Given the description of an element on the screen output the (x, y) to click on. 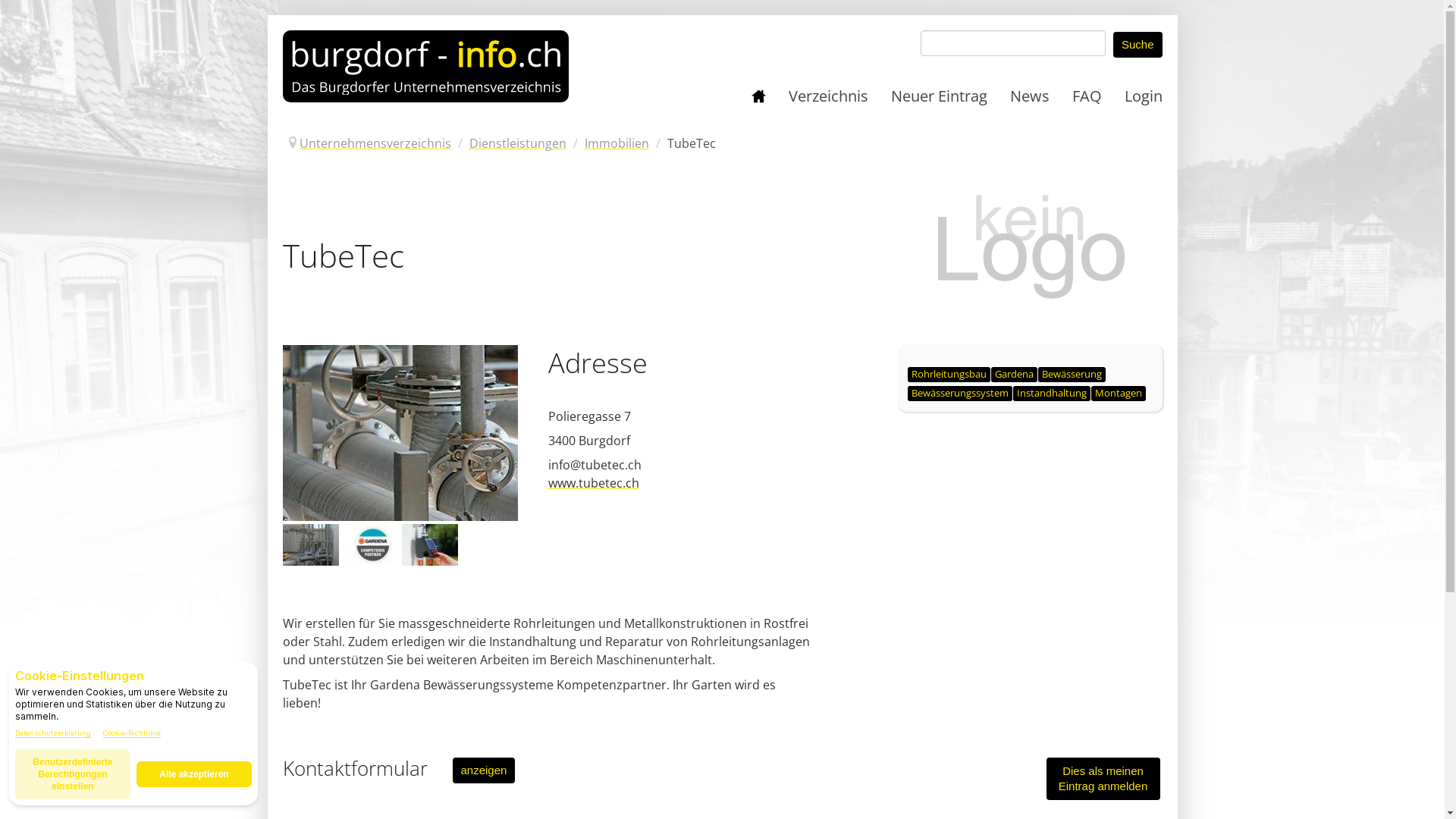
Montagen Element type: text (1117, 393)
Dienstleistungen Element type: text (516, 142)
Unternehmensverzeichnis Element type: text (374, 142)
Immobilien Element type: text (615, 142)
Instandhaltung Element type: text (1051, 393)
thumb_competencepartner Element type: hover (370, 545)
thumb_3 Element type: hover (310, 545)
anzeigen Element type: text (482, 770)
Rohrleitungsbau Element type: text (947, 374)
9 Element type: hover (399, 432)
Gardena Element type: text (1013, 374)
Suche Element type: text (1137, 44)
www.tubetec.ch Element type: text (592, 482)
Dies als meinen Eintrag anmelden Element type: text (1103, 778)
thumb_GA220-0058_klein Element type: hover (429, 545)
